Given the description of an element on the screen output the (x, y) to click on. 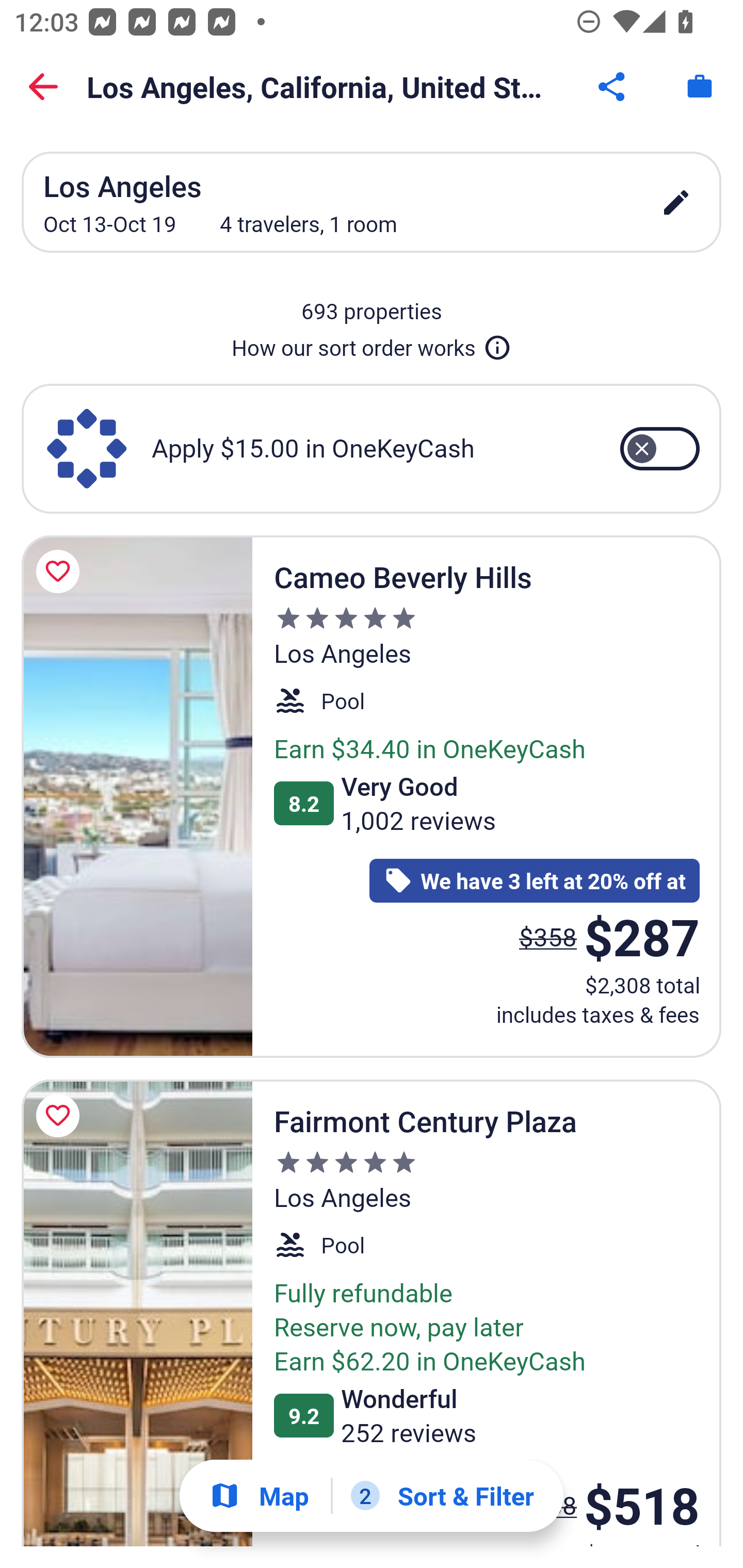
Back (43, 86)
Share Button (612, 86)
Trips. Button (699, 86)
Los Angeles Oct 13-Oct 19 4 travelers, 1 room edit (371, 202)
How our sort order works (371, 344)
Save Cameo Beverly Hills to a trip (61, 571)
Cameo Beverly Hills (136, 796)
$358 The price was $358 (547, 936)
Save Fairmont Century Plaza to a trip (61, 1115)
Fairmont Century Plaza (136, 1312)
2 Sort & Filter 2 Filters applied. Filters Button (442, 1495)
Show map Map Show map Button (258, 1495)
